Given the description of an element on the screen output the (x, y) to click on. 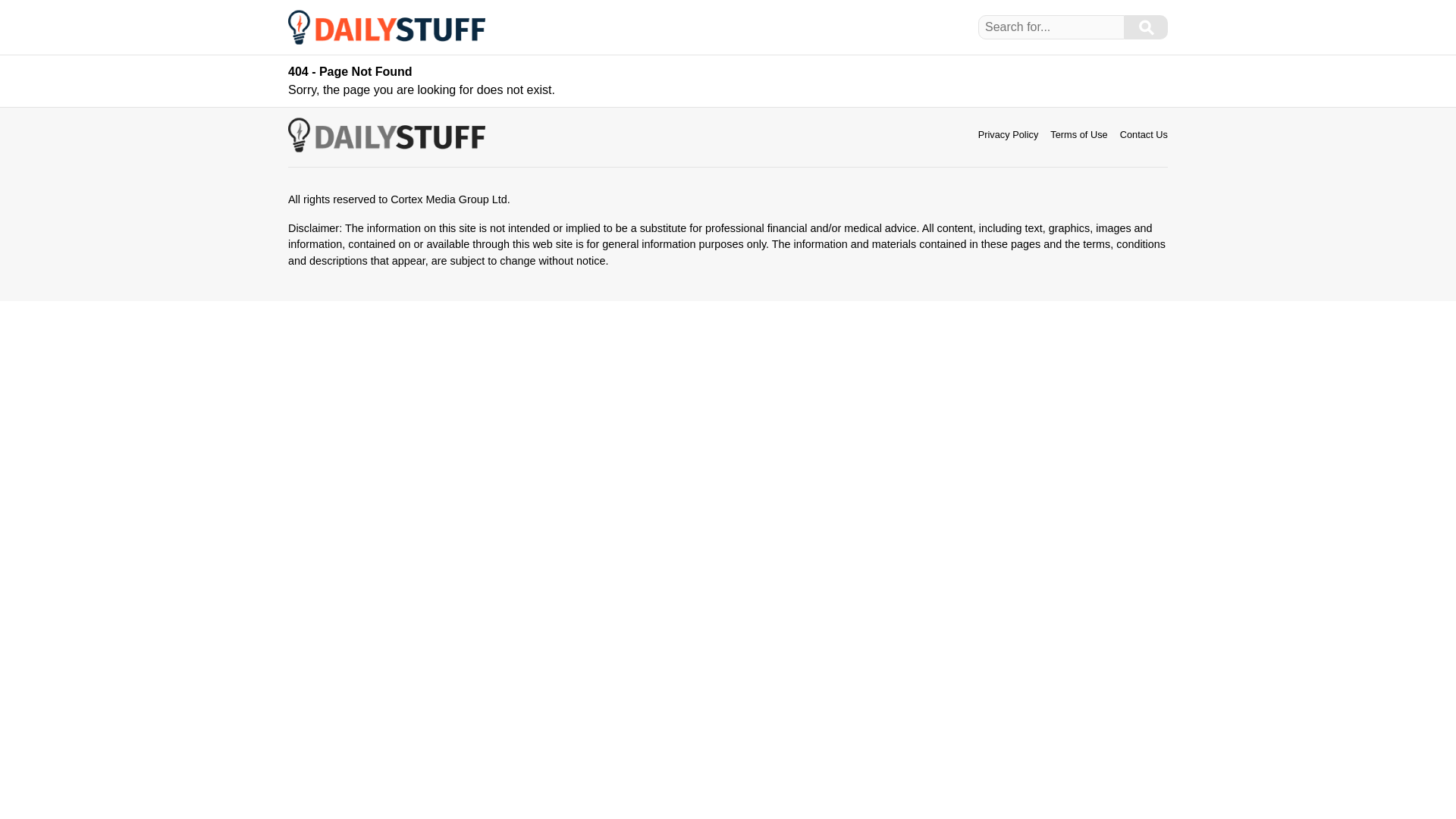
Terms of Use (1077, 134)
Privacy Policy (1008, 134)
Contact Us (1143, 134)
